Given the description of an element on the screen output the (x, y) to click on. 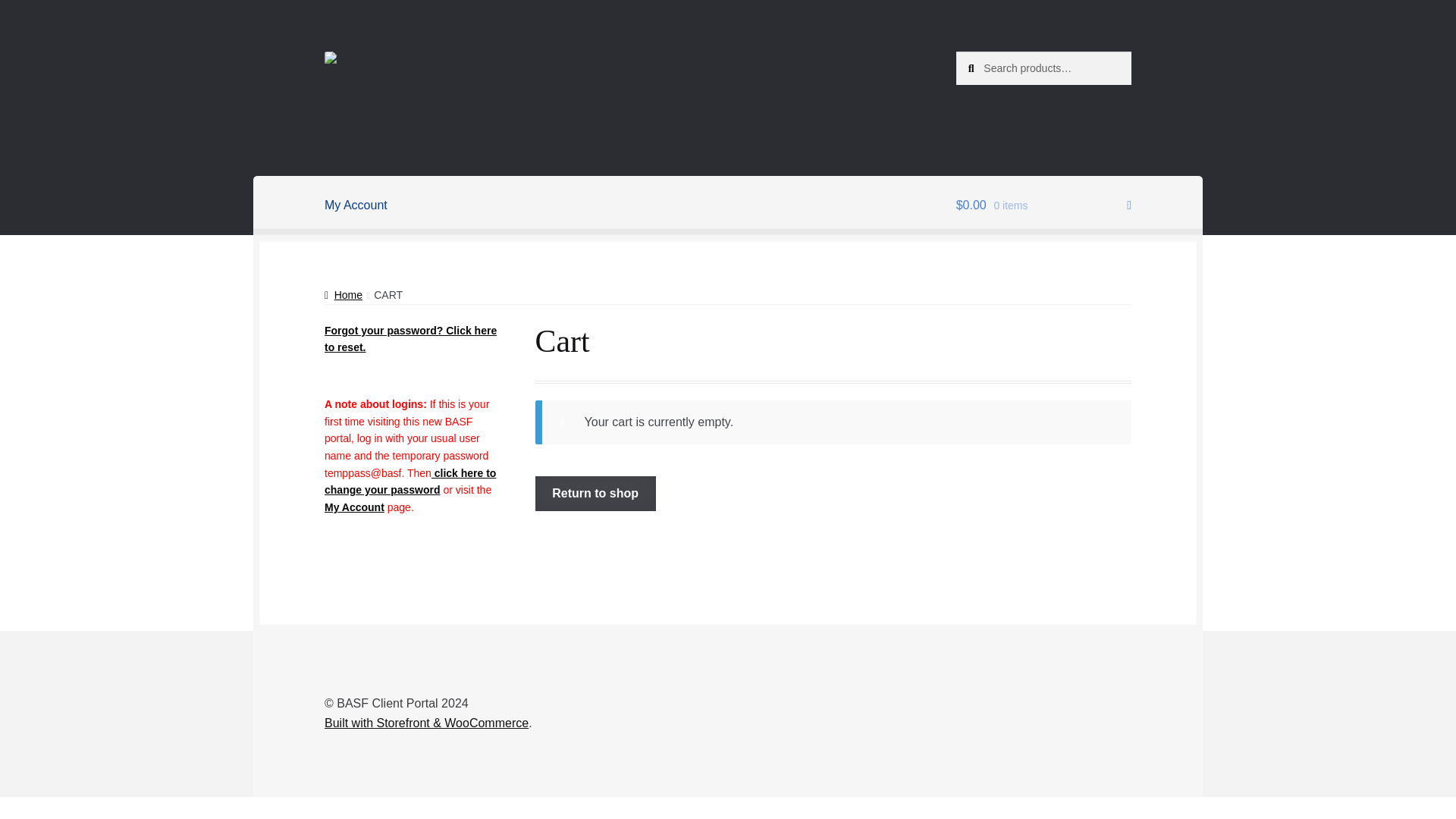
WooCommerce - The Best eCommerce Platform for WordPress (426, 722)
click here to change your password (410, 481)
Return to shop (595, 493)
My Account (354, 507)
Home (343, 295)
Forgot your password? Click here to reset. (410, 338)
View your shopping cart (1043, 205)
My Account (355, 205)
